Given the description of an element on the screen output the (x, y) to click on. 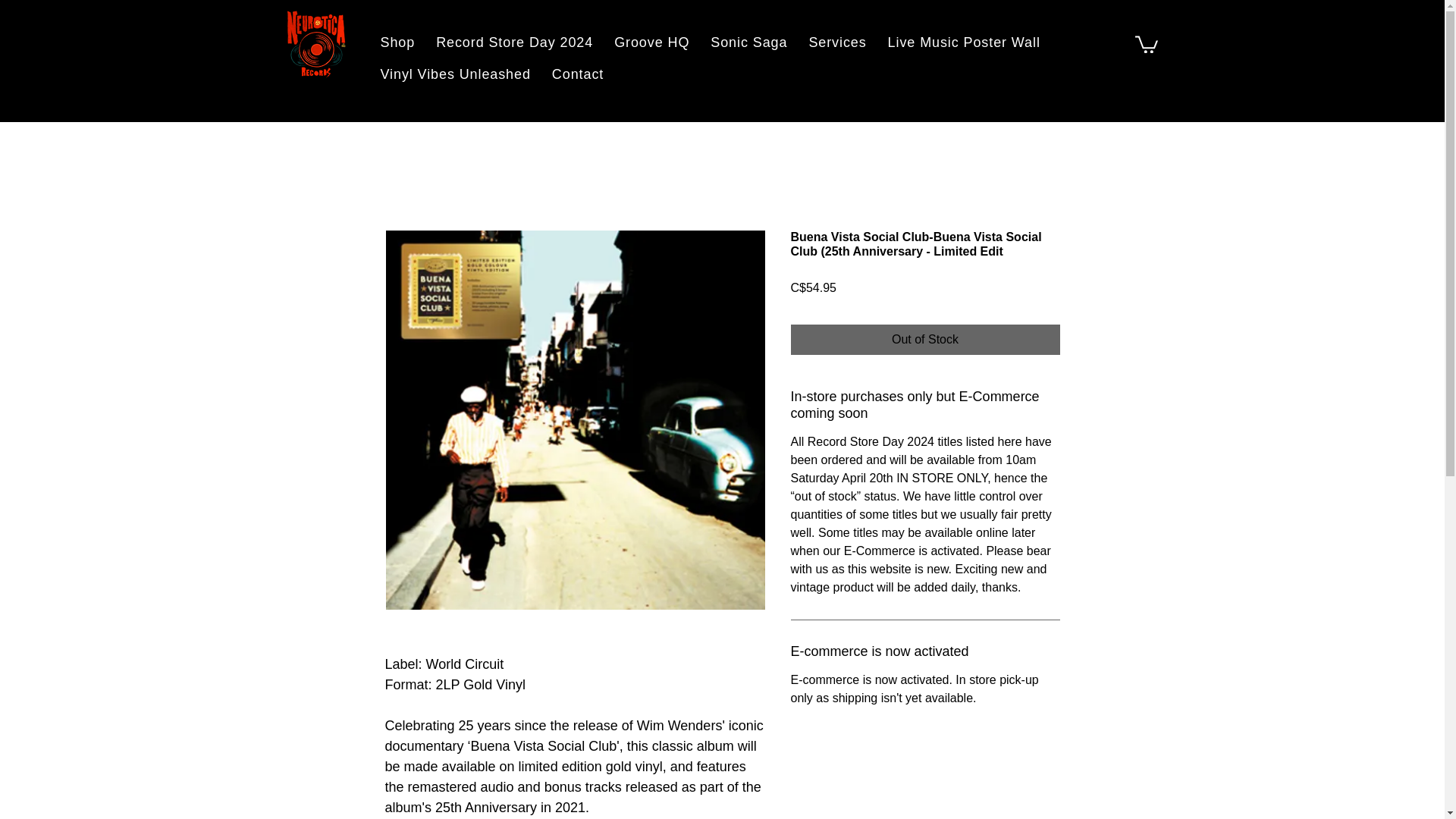
Contact (577, 74)
Groove HQ (652, 43)
Vinyl Vibes Unleashed (455, 74)
Shop (397, 43)
Sonic Saga (748, 43)
Out of Stock (924, 339)
Services (836, 43)
Record Store Day 2024 (513, 43)
Live Music Poster Wall (964, 43)
